Given the description of an element on the screen output the (x, y) to click on. 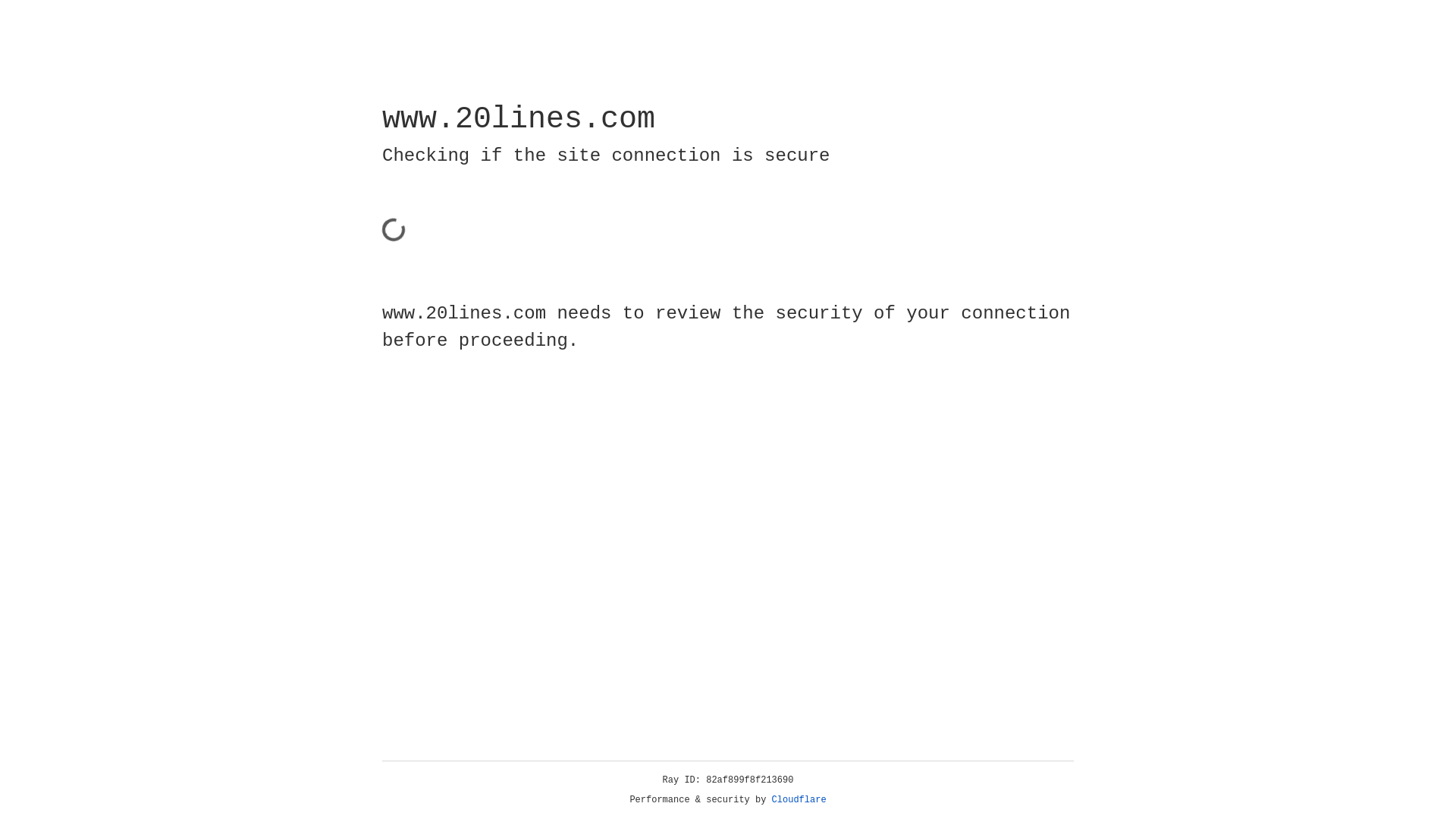
Cloudflare Element type: text (798, 799)
